Given the description of an element on the screen output the (x, y) to click on. 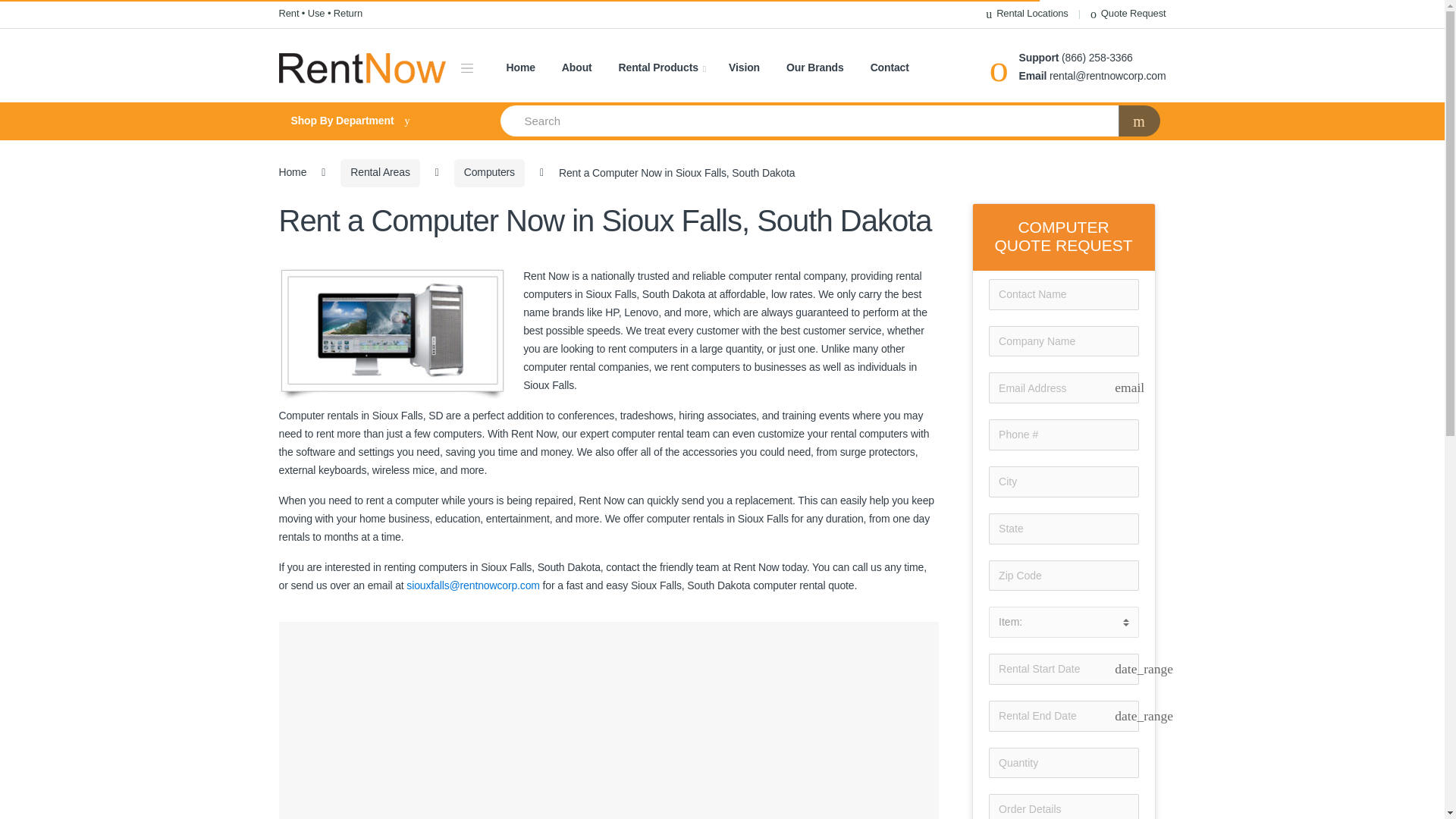
Skip to content (34, 9)
Skip to navigation (40, 9)
Our Brands (815, 67)
Rental Products (662, 67)
Rental Locations (1026, 13)
Contact (889, 67)
Quote Request (1128, 13)
Vision (744, 67)
Rental Locations (1026, 13)
Quote Request (1128, 13)
